Given the description of an element on the screen output the (x, y) to click on. 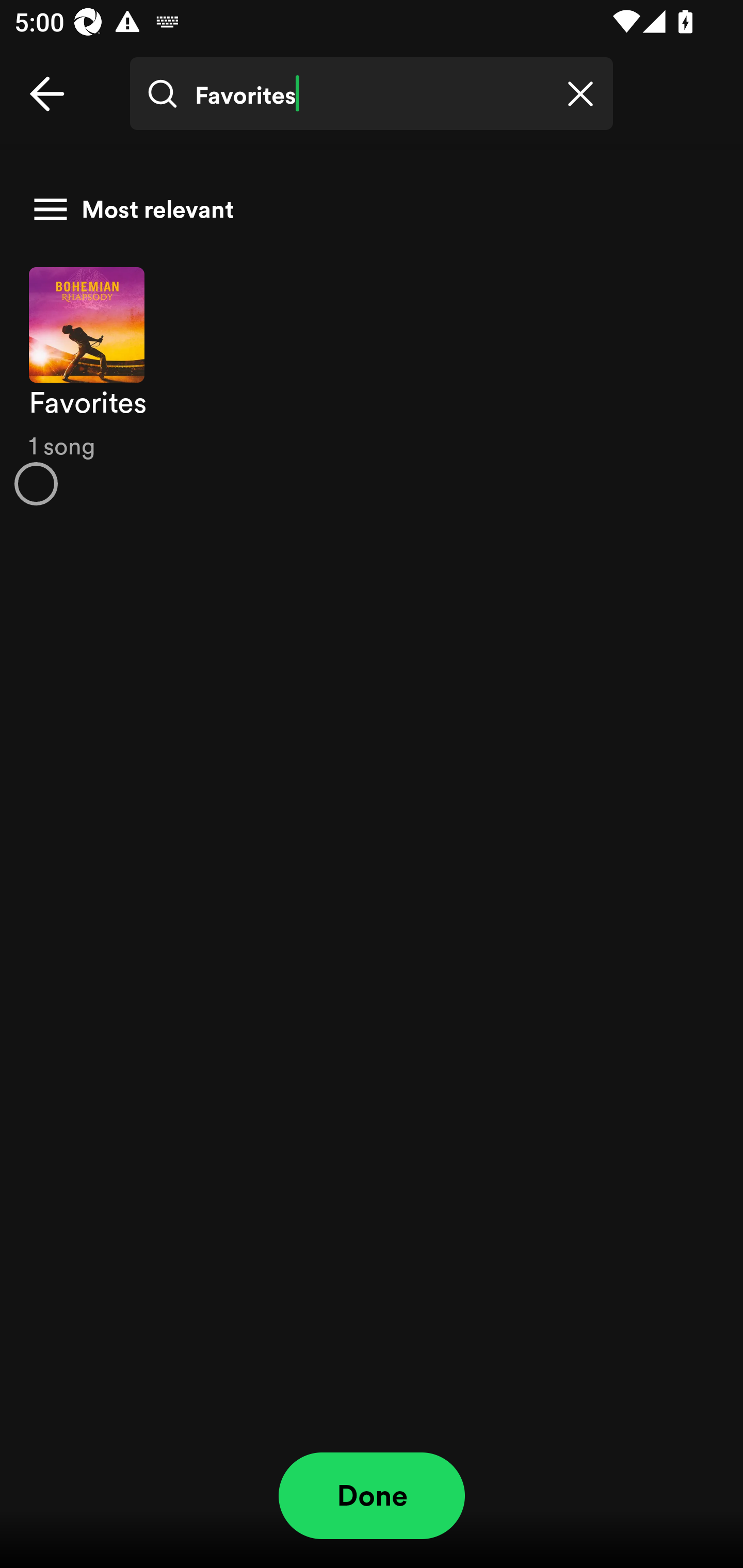
Back (46, 93)
Favorites Find playlist (371, 94)
Clear Find playlist (580, 94)
Most relevant (363, 209)
Favorites 1 song (371, 386)
Done (371, 1495)
